Given the description of an element on the screen output the (x, y) to click on. 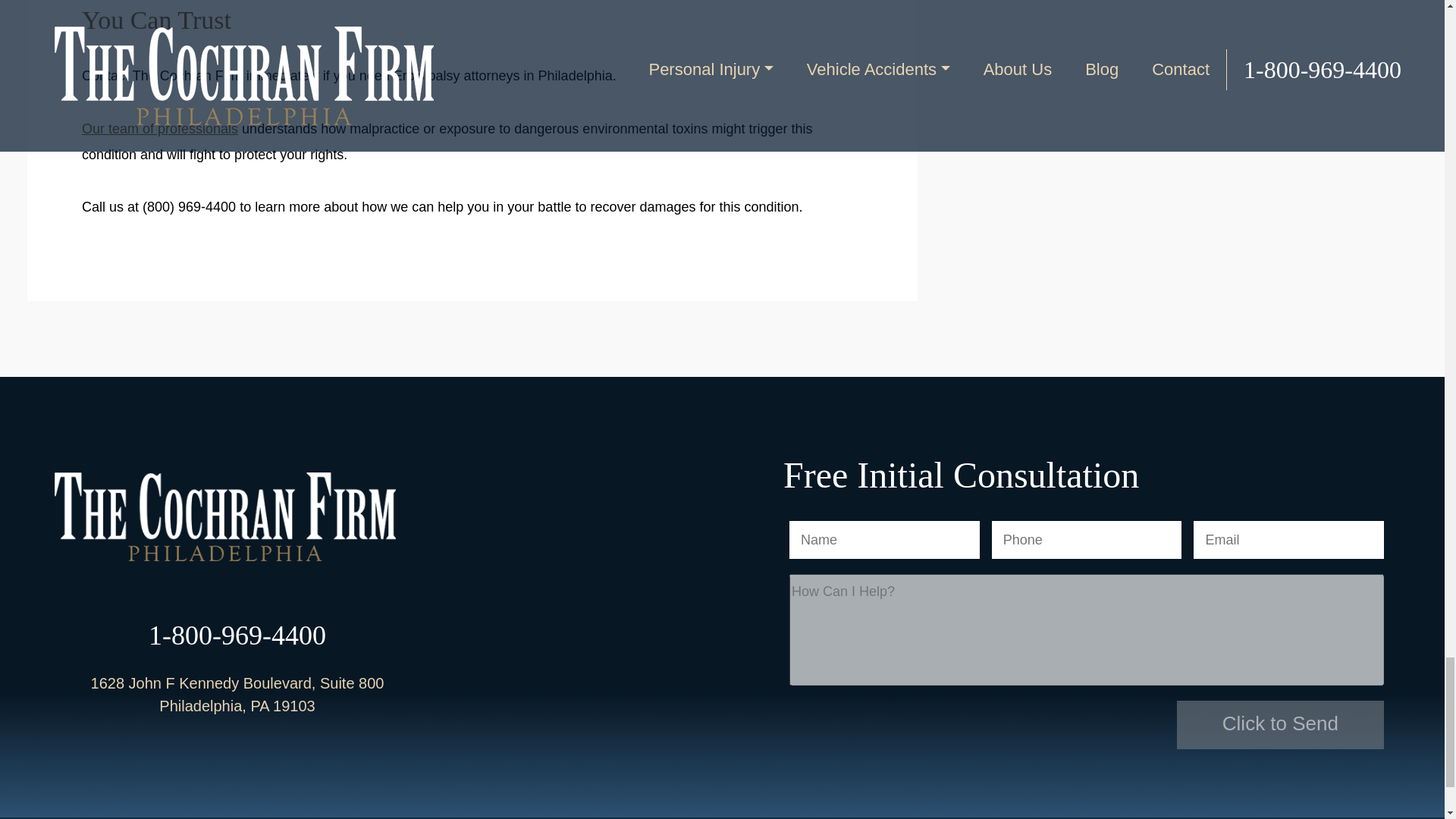
Our team of professionals (159, 128)
Click to Send (1280, 725)
